Given the description of an element on the screen output the (x, y) to click on. 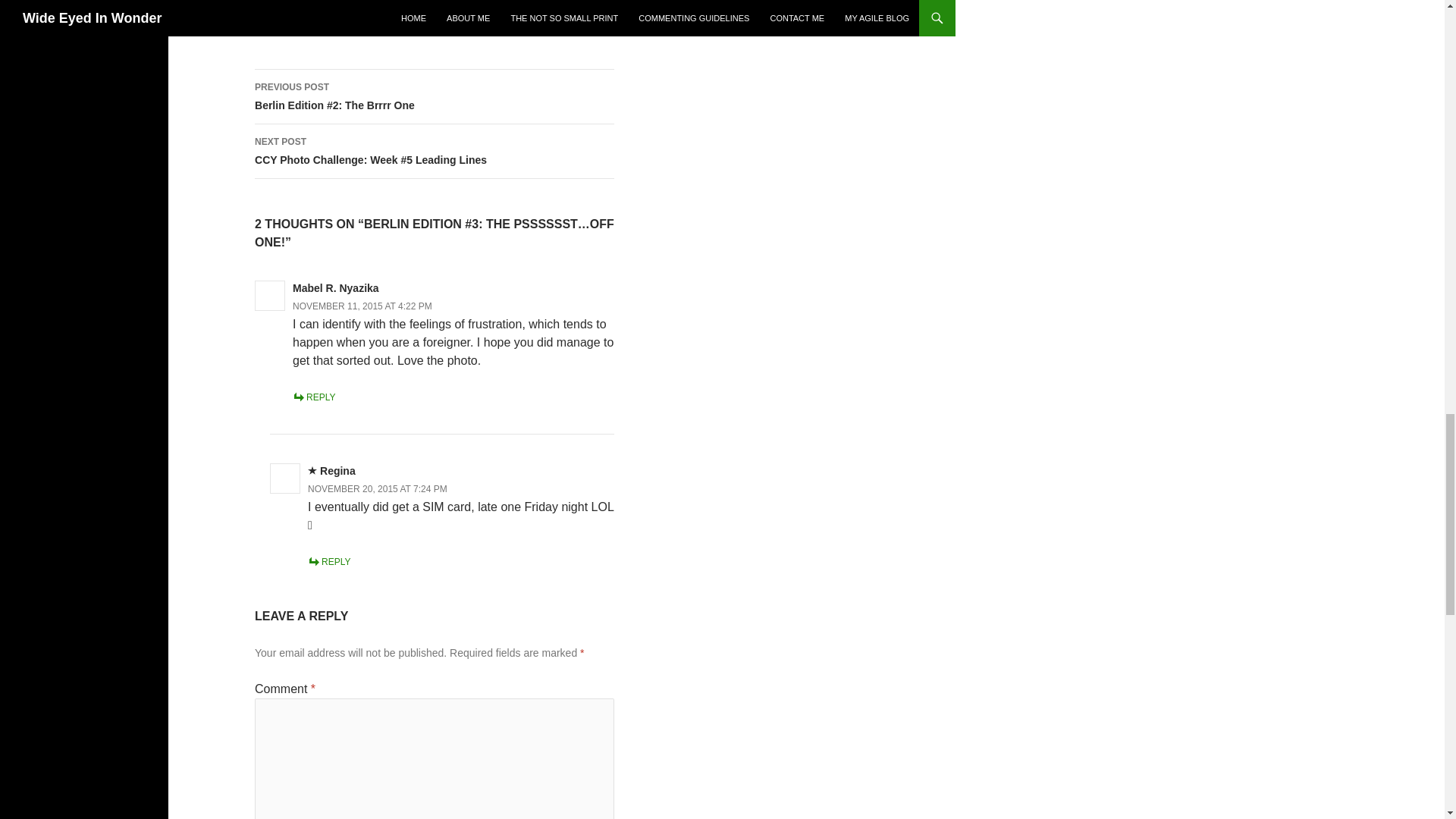
REPLY (328, 561)
REPLY (313, 397)
NOVEMBER 11, 2015 AT 4:22 PM (362, 306)
NOVEMBER 20, 2015 AT 7:24 PM (376, 489)
BERLIN WALL (296, 23)
Regina (337, 470)
